Given the description of an element on the screen output the (x, y) to click on. 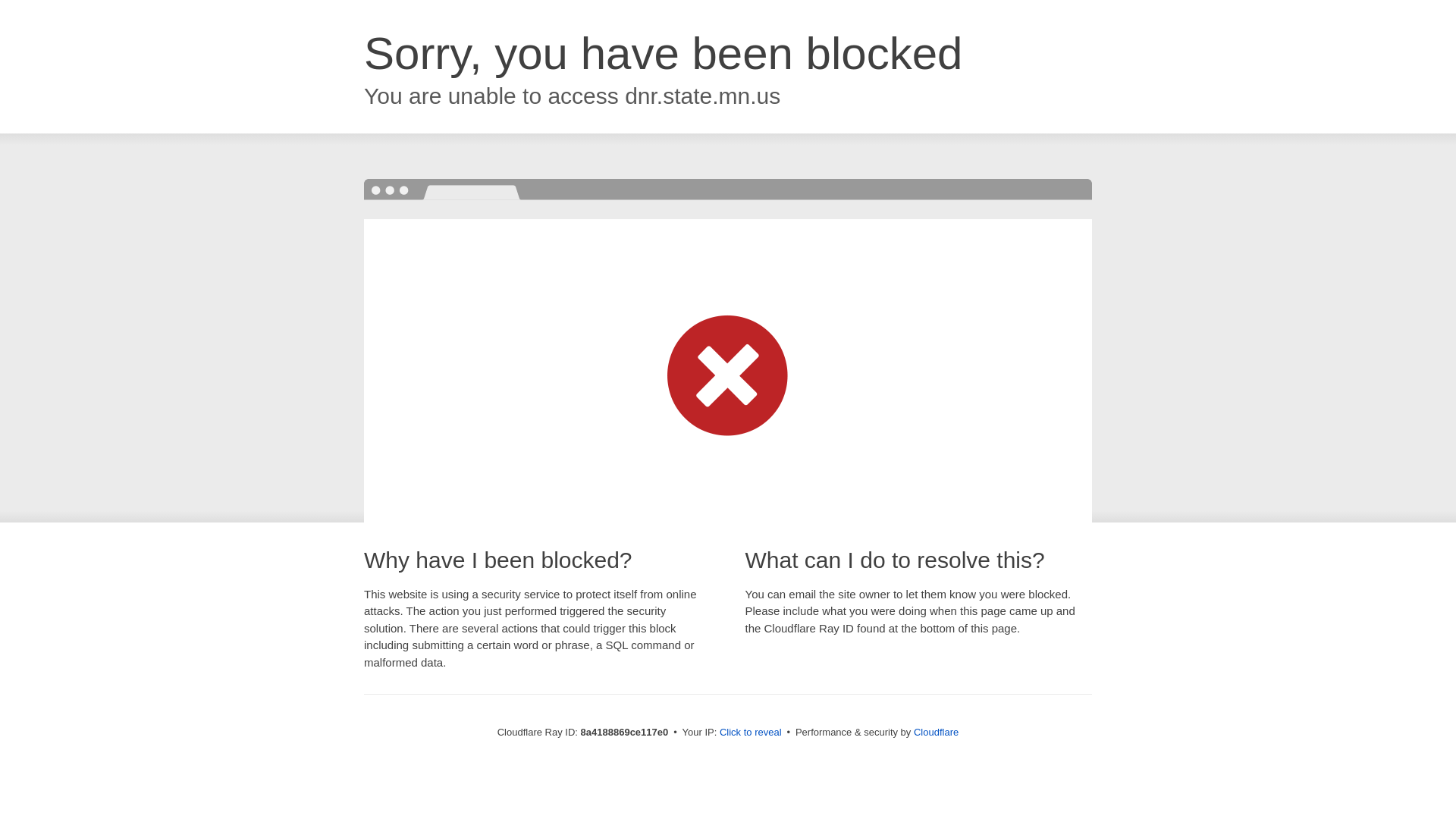
Cloudflare (936, 731)
Click to reveal (750, 732)
